Given the description of an element on the screen output the (x, y) to click on. 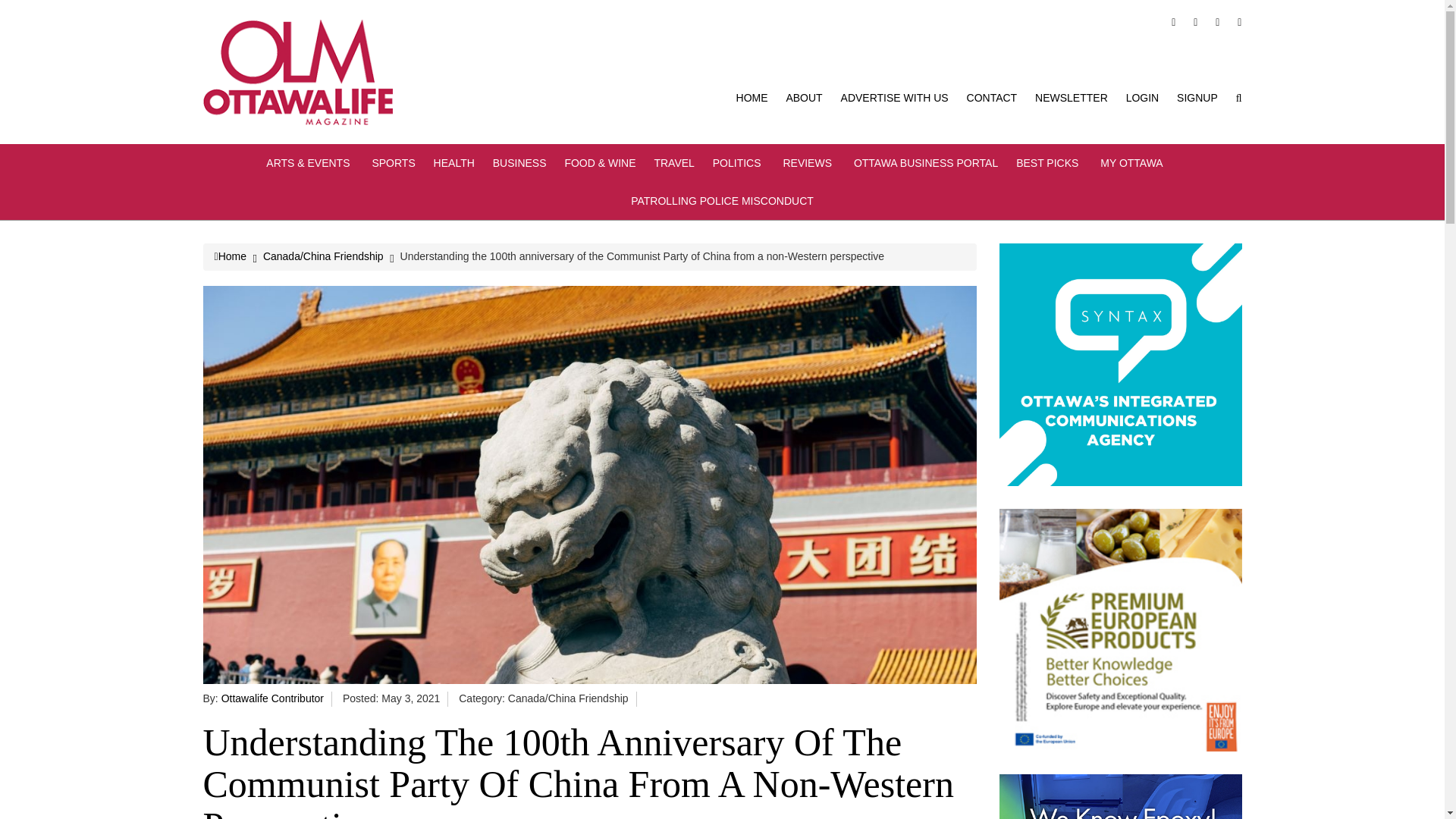
BUSINESS (520, 162)
CONTACT (991, 97)
LOGIN (1141, 97)
REVIEWS (809, 162)
TRAVEL (673, 162)
POLITICS (739, 162)
SPORTS (392, 162)
SIGNUP (1196, 97)
HEALTH (453, 162)
ADVERTISE WITH US (895, 97)
ABOUT (804, 97)
BEST PICKS (1048, 162)
HOME (752, 97)
OTTAWA BUSINESS PORTAL (925, 162)
NEWSLETTER (1071, 97)
